Given the description of an element on the screen output the (x, y) to click on. 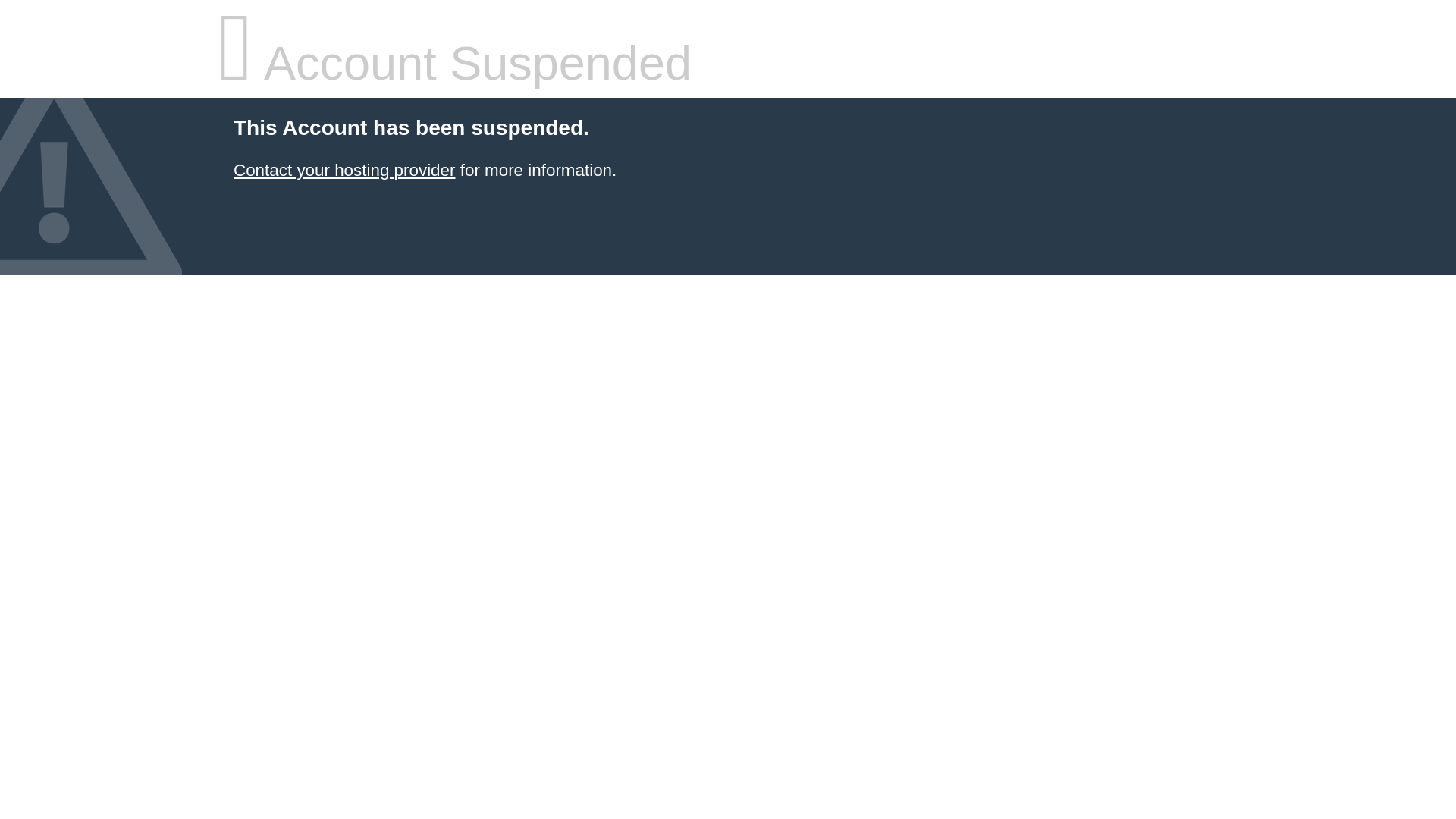
Contact your hosting provider (343, 169)
